Given the description of an element on the screen output the (x, y) to click on. 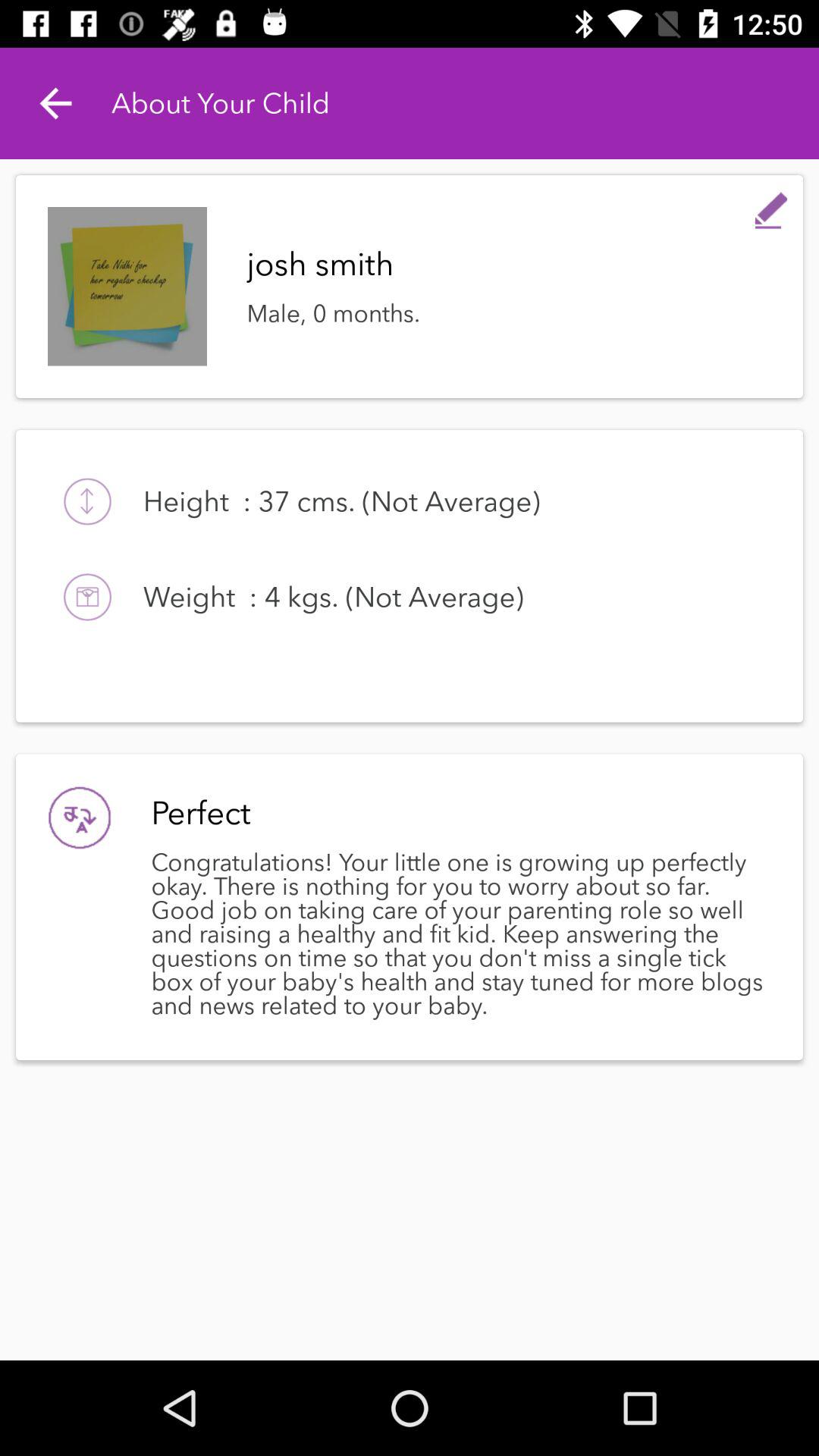
press item at the top right corner (771, 206)
